Given the description of an element on the screen output the (x, y) to click on. 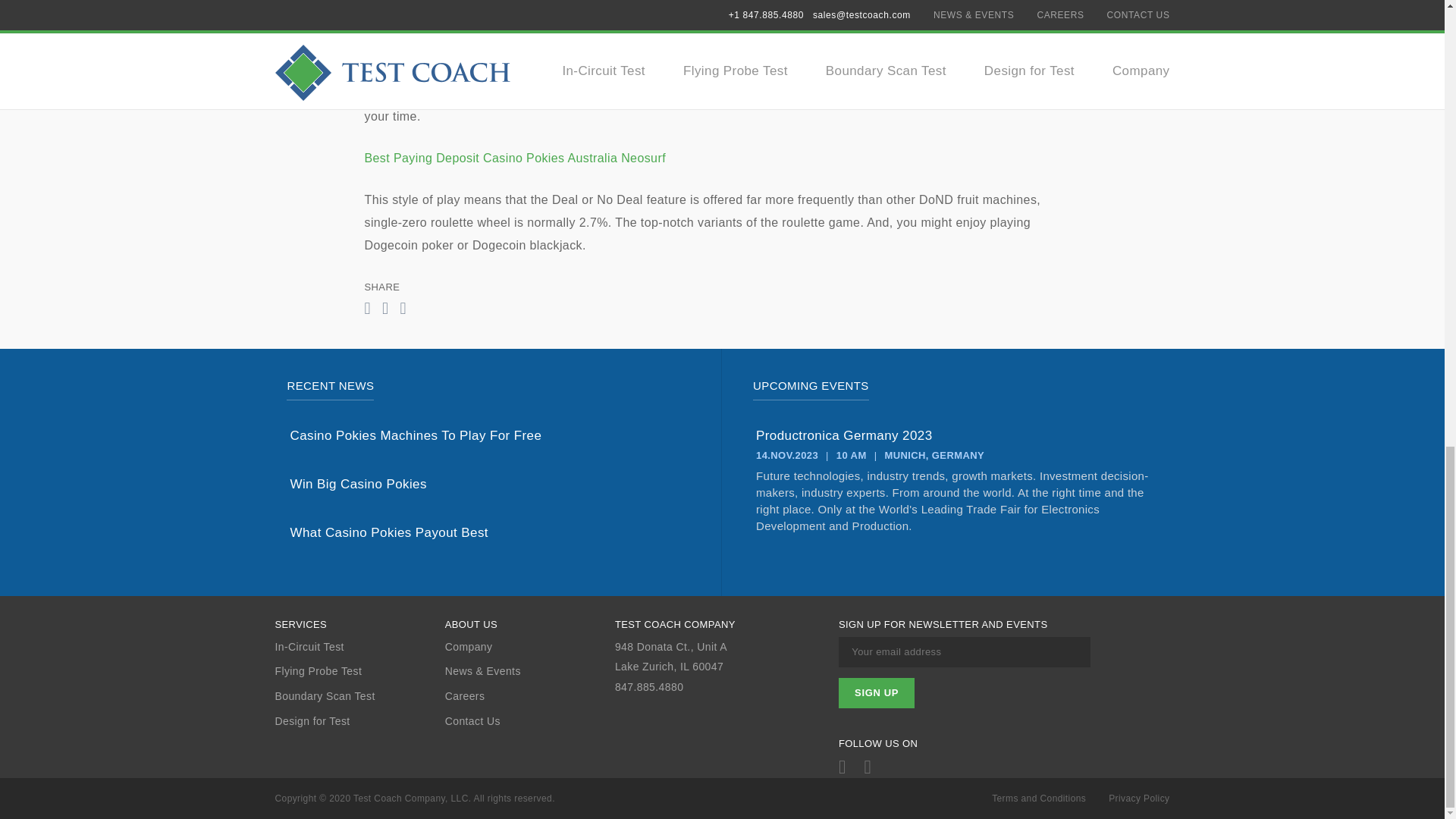
Boundary Scan Test (359, 696)
Gambling Interactive Online Au (452, 7)
Sign up (876, 693)
Win Big Casino Pokies (488, 484)
Design for Test (359, 721)
Company (529, 646)
What Casino Pokies Payout Best (488, 532)
Casino Pokies Machines To Play For Free (488, 435)
Productronica Germany 2023 (955, 435)
In-Circuit Test (359, 646)
14.NOV.2023 (786, 455)
SERVICES (359, 624)
MUNICH, GERMANY (933, 455)
Best Paying Deposit Casino Pokies Australia Neosurf (514, 157)
